Given the description of an element on the screen output the (x, y) to click on. 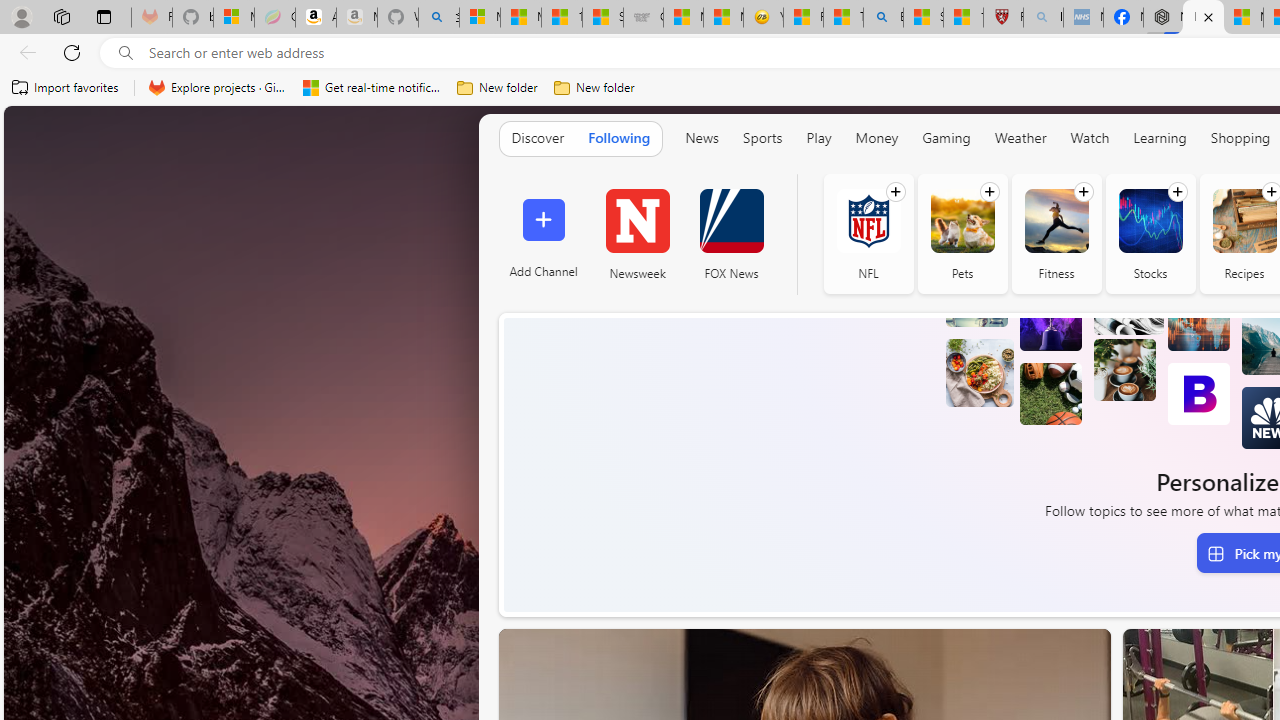
Fitness (1056, 233)
Stocks (1149, 220)
Fitness (1056, 220)
FOX News (731, 220)
NFL (868, 220)
